Given the description of an element on the screen output the (x, y) to click on. 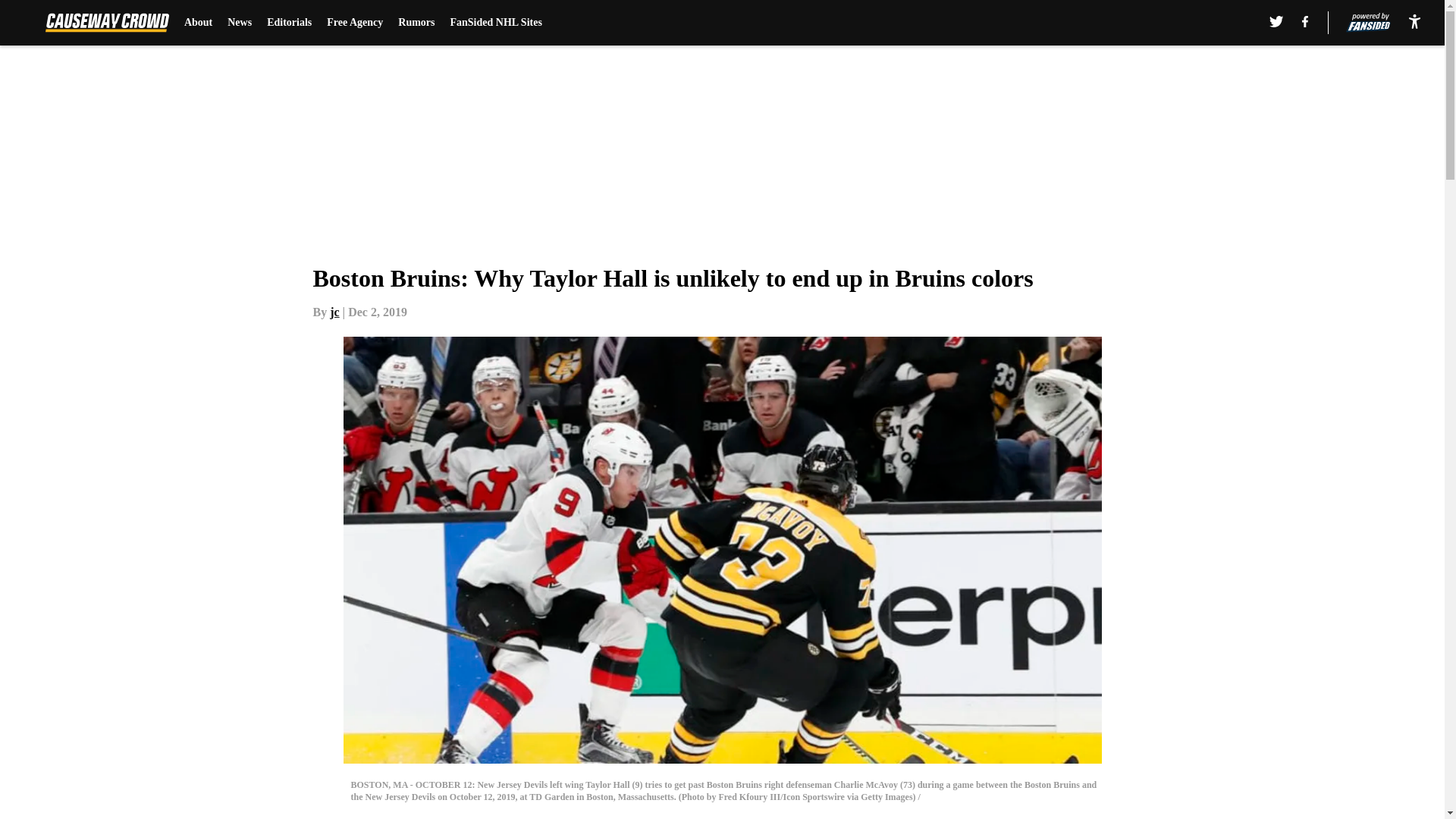
About (198, 22)
Editorials (288, 22)
Rumors (415, 22)
News (239, 22)
Free Agency (354, 22)
FanSided NHL Sites (495, 22)
